Given the description of an element on the screen output the (x, y) to click on. 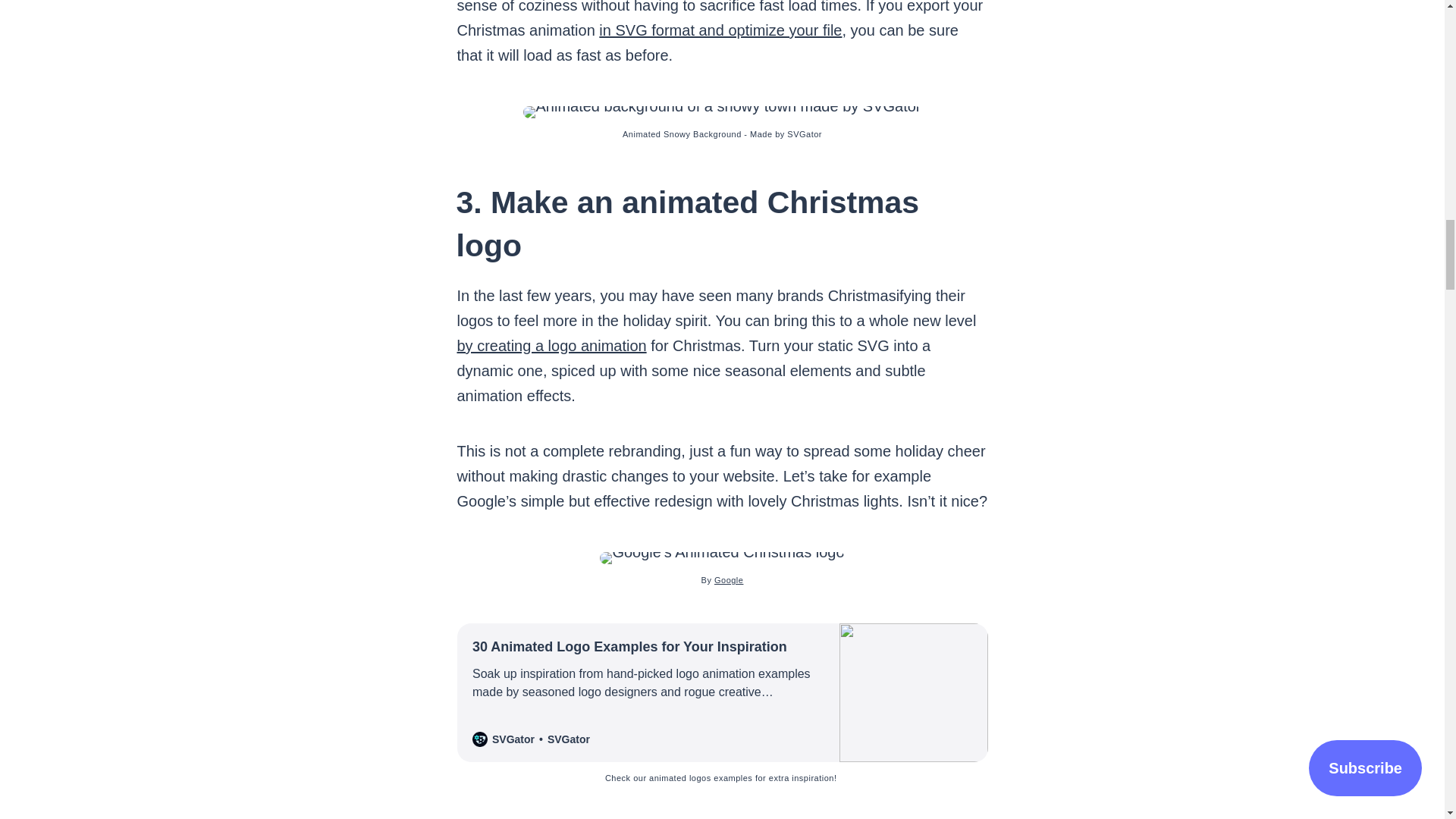
by creating a logo animation (551, 345)
Google (728, 579)
in SVG format and optimize your file (719, 30)
